Given the description of an element on the screen output the (x, y) to click on. 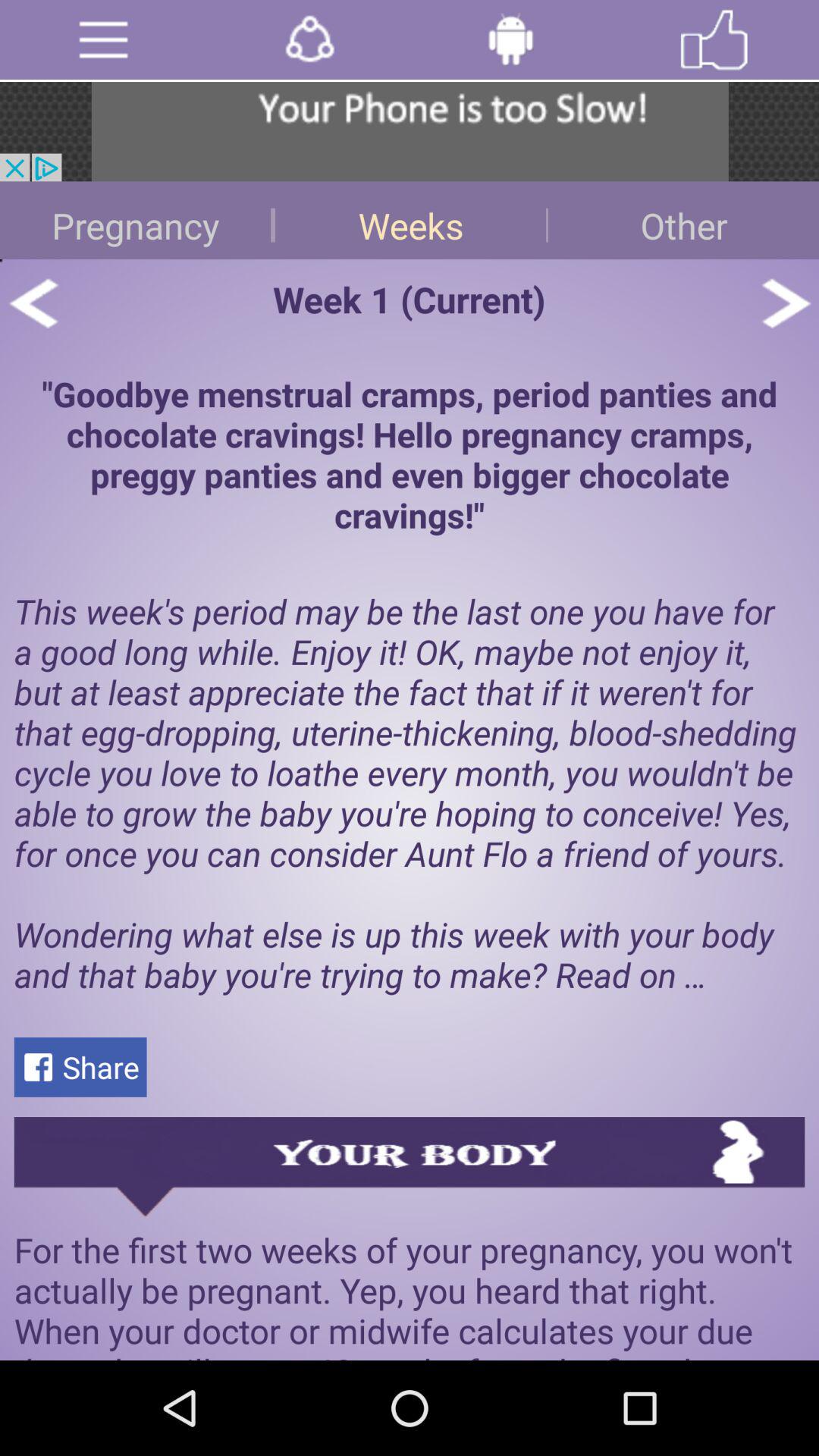
share anthing from one device to another (309, 39)
